Given the description of an element on the screen output the (x, y) to click on. 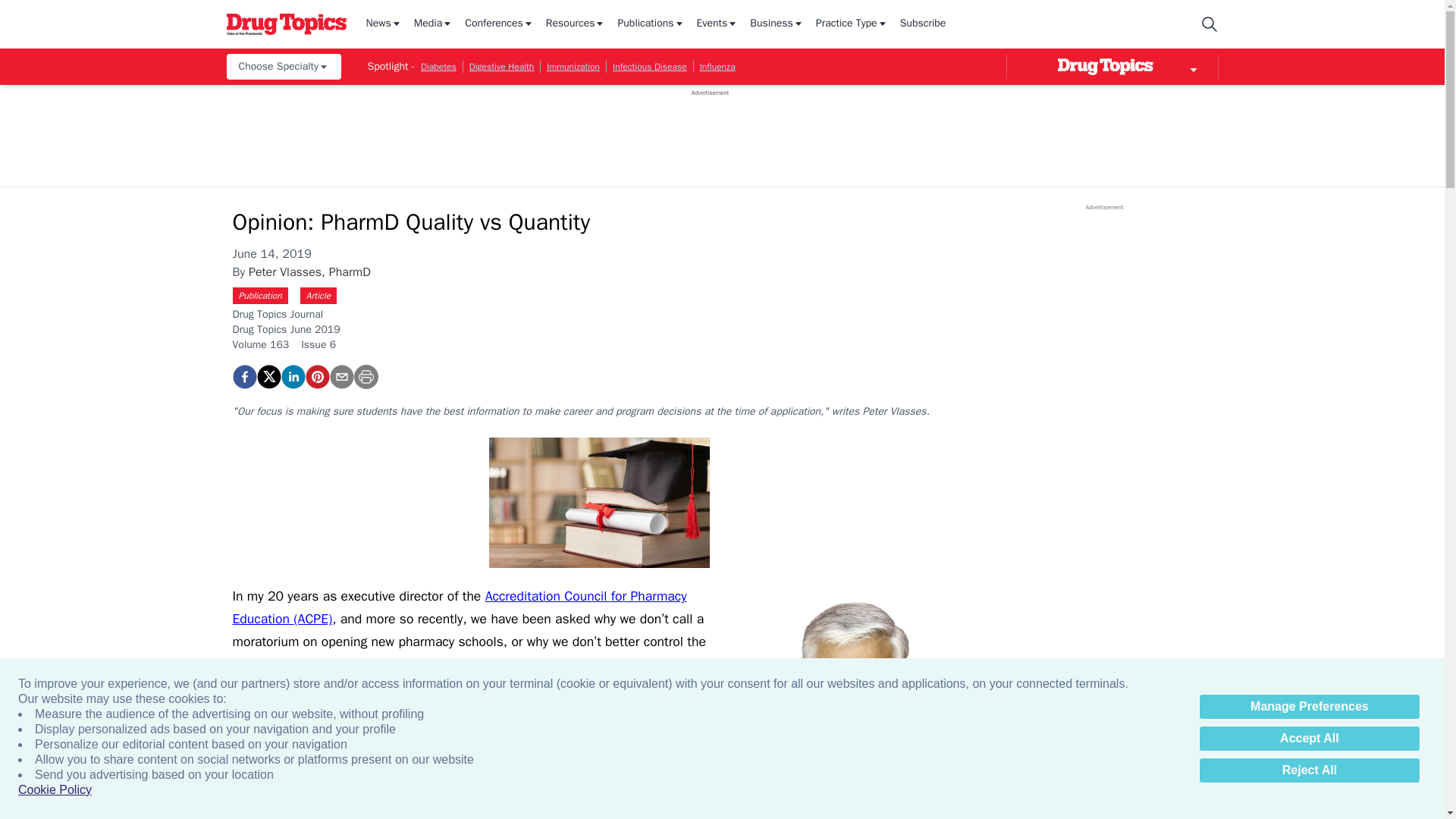
Opinion: PharmD Quality vs Quantity (316, 376)
Manage Preferences (1309, 706)
3rd party ad content (709, 131)
Publications (650, 23)
Peter Vlasses, PharmD (855, 702)
News (383, 23)
Cookie Policy (54, 789)
Events (717, 23)
Opinion: PharmD Quality vs Quantity (243, 376)
Media (432, 23)
Accept All (1309, 738)
Resources (575, 23)
Reject All (1309, 769)
Conferences (499, 23)
